Given the description of an element on the screen output the (x, y) to click on. 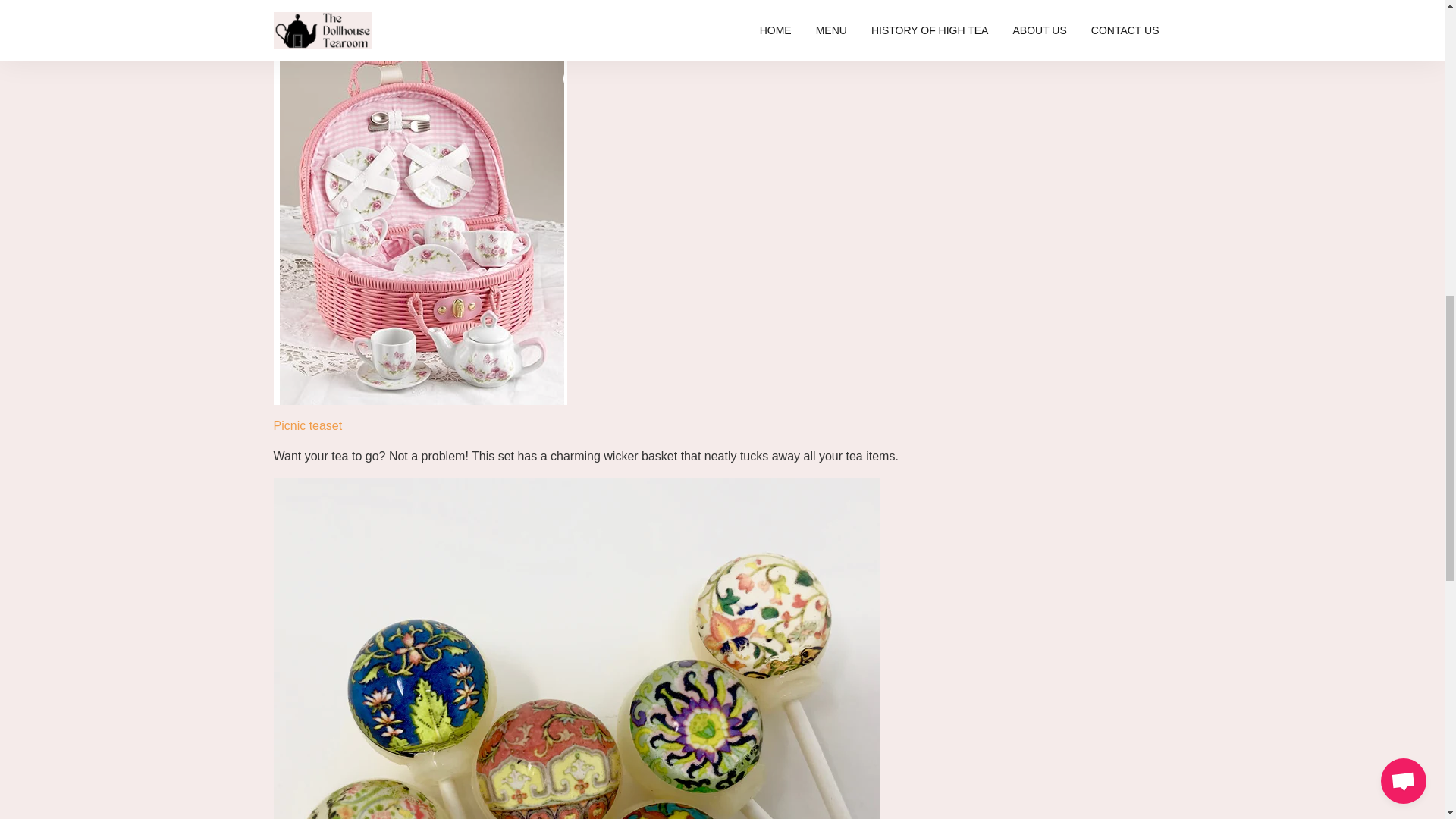
Picnic teaset (307, 425)
